Given the description of an element on the screen output the (x, y) to click on. 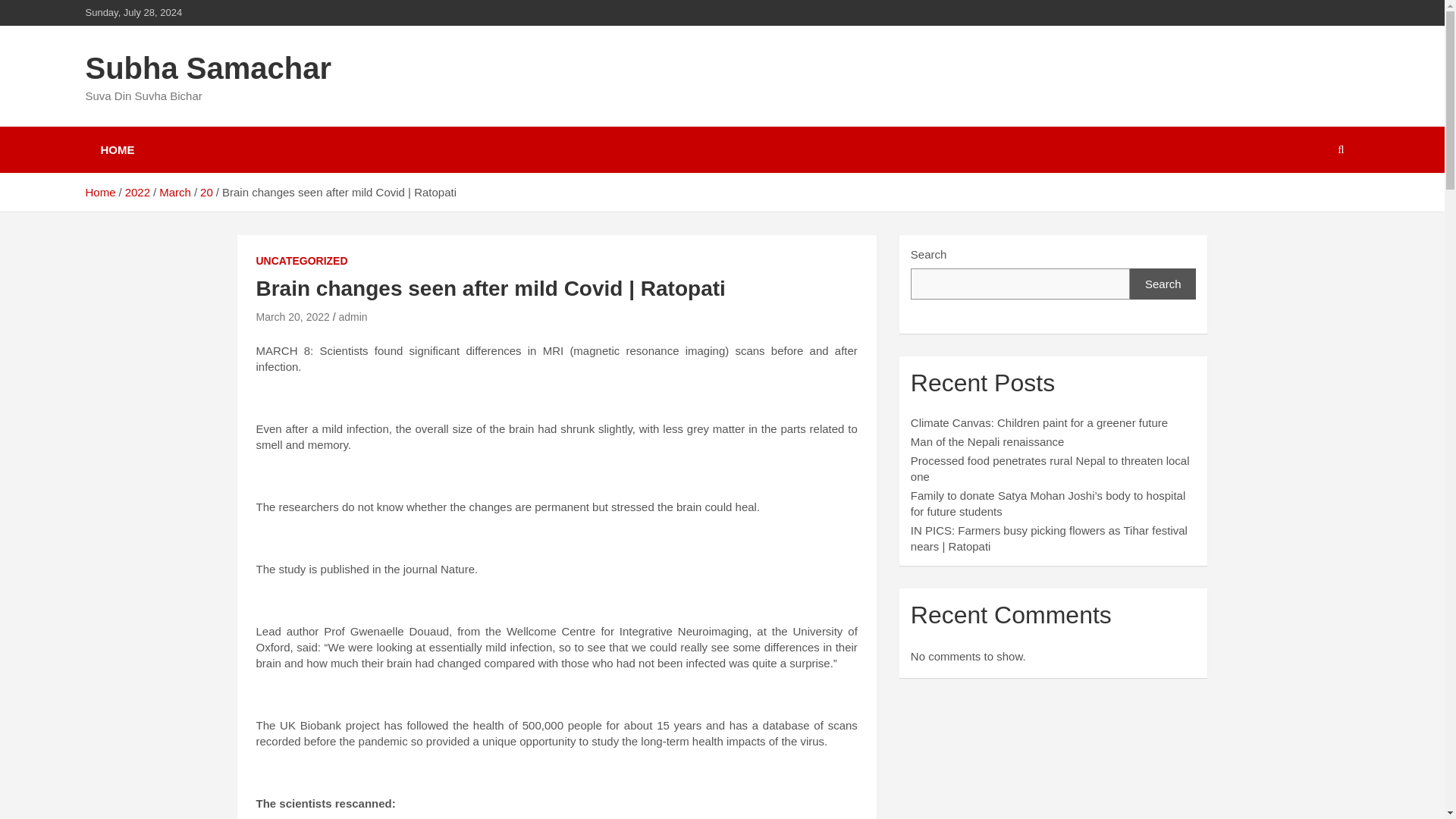
Man of the Nepali renaissance (987, 440)
March (174, 192)
Search (1162, 283)
Home (99, 192)
Climate Canvas: Children paint for a greener future (1039, 422)
admin (351, 316)
Subha Samachar (207, 68)
March 20, 2022 (293, 316)
2022 (137, 192)
20 (206, 192)
UNCATEGORIZED (301, 261)
Processed food penetrates rural Nepal to threaten local one (1050, 468)
HOME (116, 149)
